Given the description of an element on the screen output the (x, y) to click on. 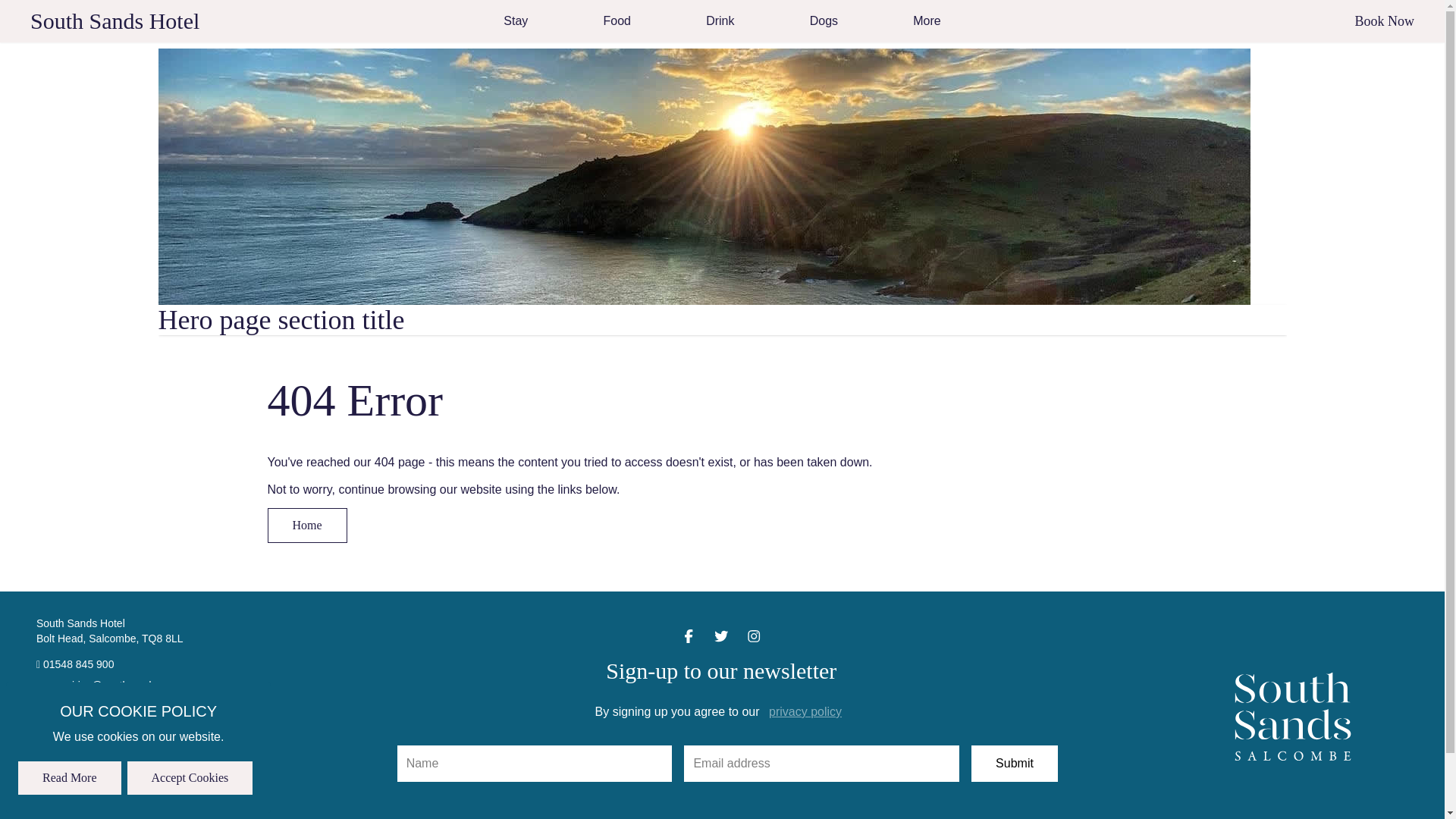
South Sands Hotel (114, 20)
Home Page (114, 20)
Stay (516, 21)
Food (617, 21)
Dogs (823, 21)
Drink (719, 21)
Book Now (1383, 20)
